Given the description of an element on the screen output the (x, y) to click on. 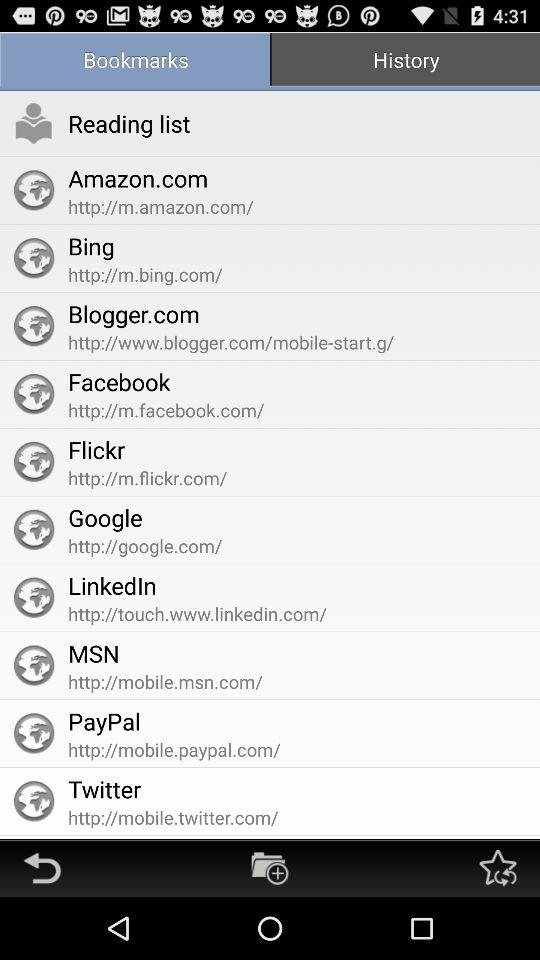
tap the bookmarks icon (135, 61)
